Given the description of an element on the screen output the (x, y) to click on. 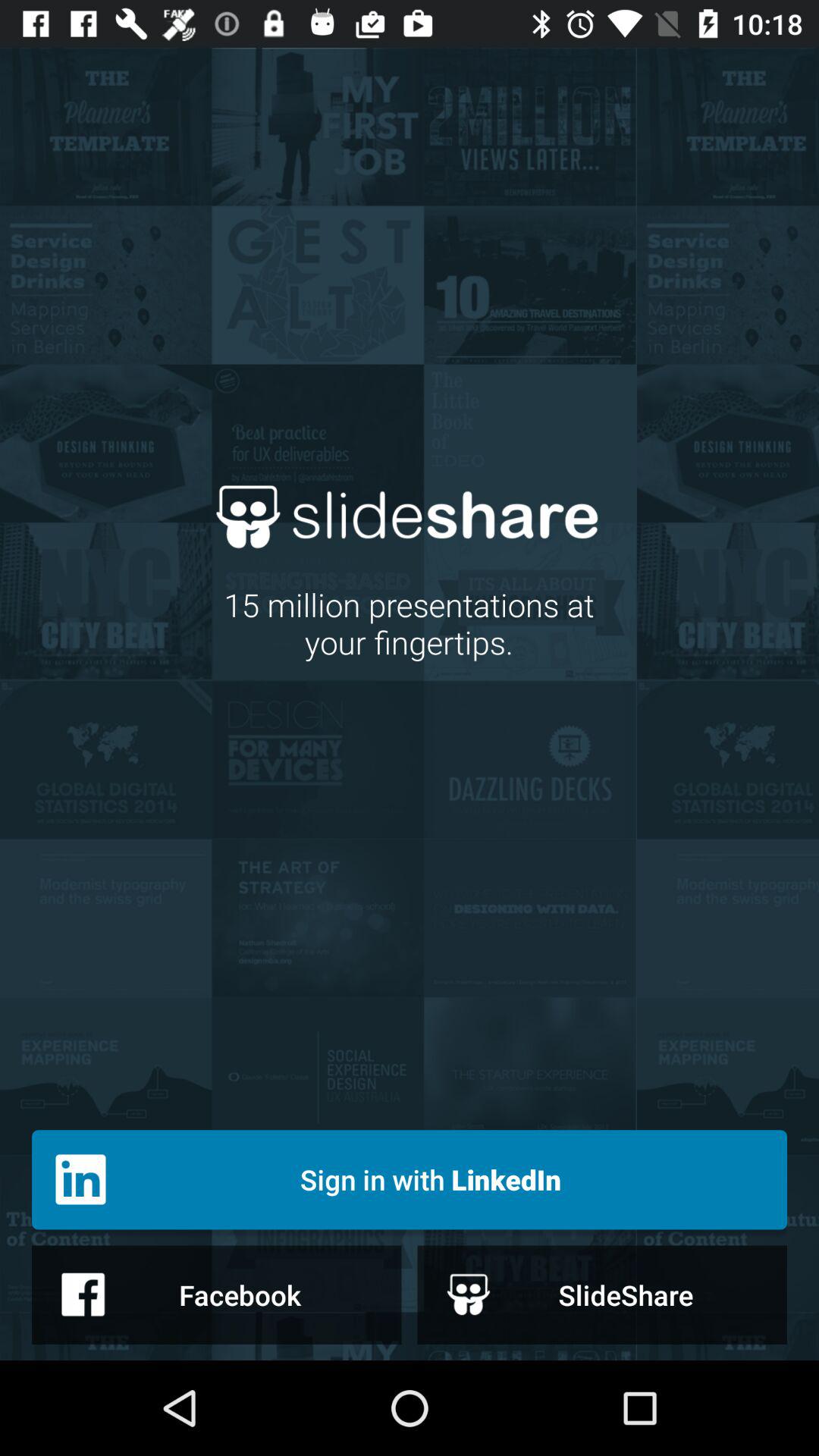
turn on icon below 15 million presentations icon (409, 1179)
